Given the description of an element on the screen output the (x, y) to click on. 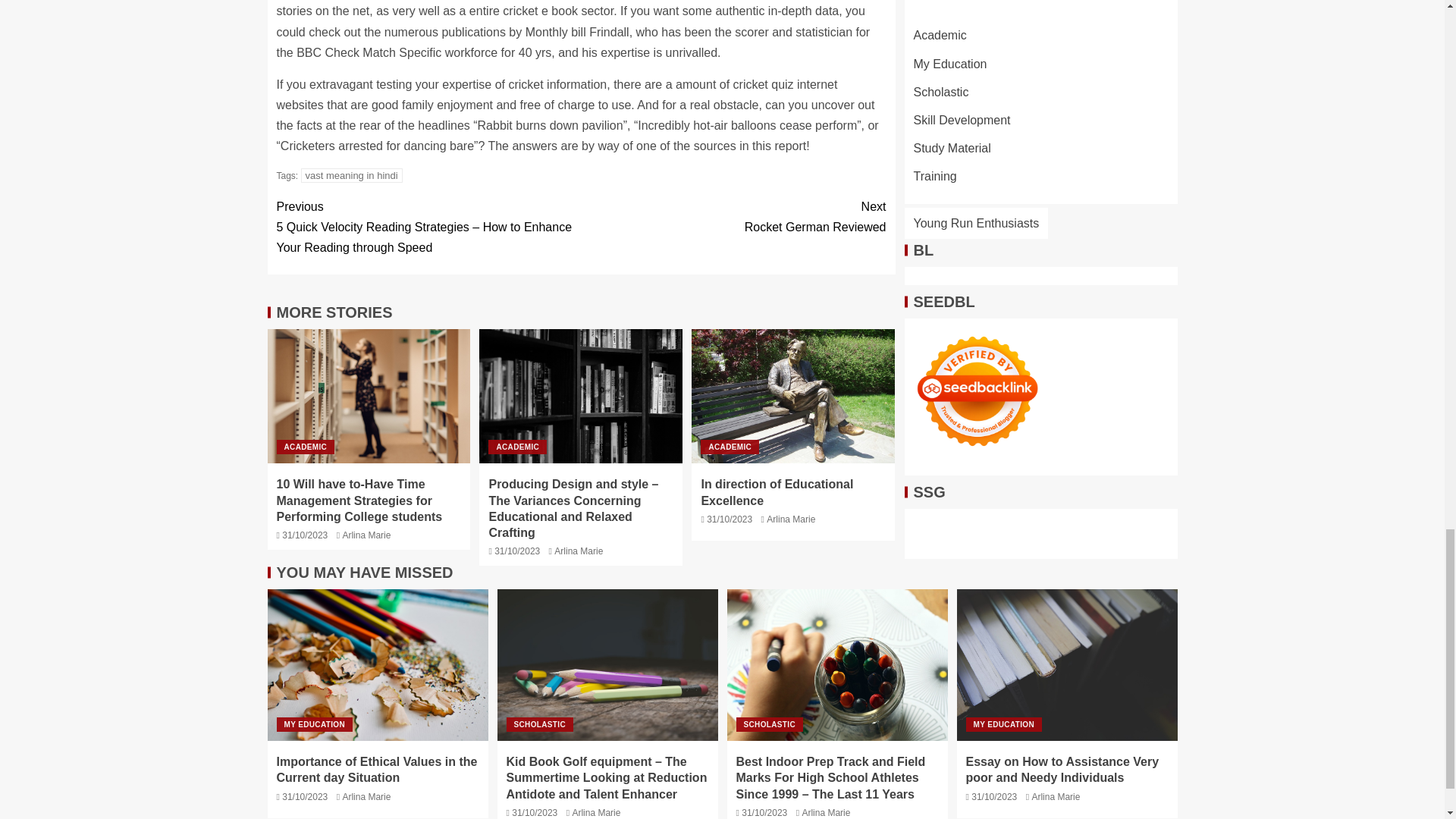
ACADEMIC (305, 446)
Essay on How to Assistance Very poor and Needy Individuals (1066, 664)
In direction of Educational Excellence (793, 396)
ACADEMIC (517, 446)
Arlina Marie (732, 216)
ACADEMIC (366, 534)
Importance of Ethical Values in the Current day Situation (729, 446)
Arlina Marie (376, 664)
vast meaning in hindi (791, 519)
Arlina Marie (352, 175)
In direction of Educational Excellence (578, 551)
Seedbacklink (776, 491)
